Given the description of an element on the screen output the (x, y) to click on. 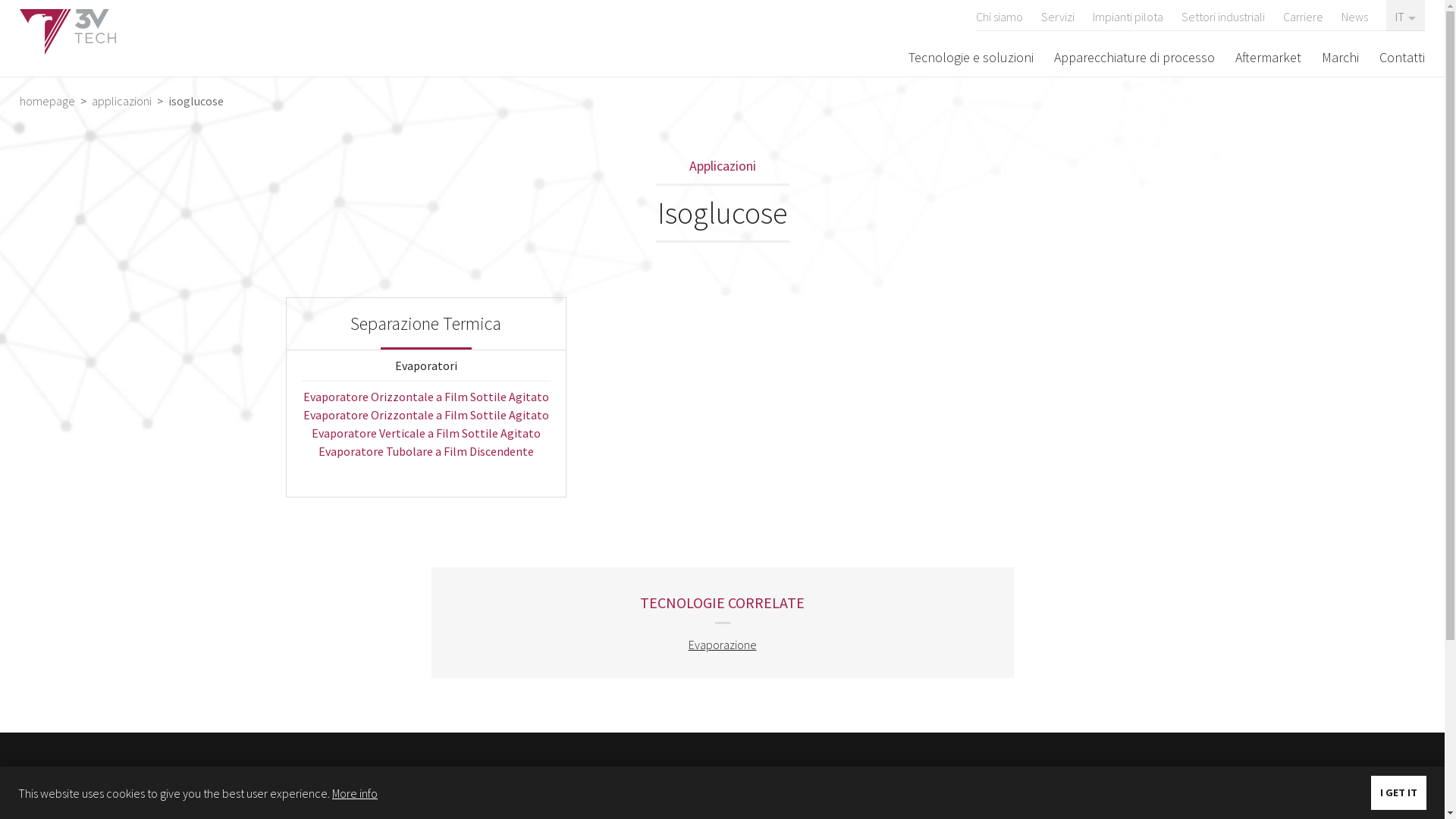
Aftermarket Element type: text (1268, 56)
Evaporatore Verticale a Film Sottile Agitato Element type: text (425, 432)
Marchi Element type: text (1339, 56)
Applicazioni Element type: text (721, 166)
Chi siamo Element type: text (826, 777)
Settori industriali Element type: text (1222, 15)
isoglucose Element type: text (194, 100)
Apparecchiature di processo Element type: text (1134, 56)
Evaporatore Orizzontale a Film Sottile Agitato Element type: text (426, 414)
News Element type: text (1354, 15)
Evaporazione Element type: text (722, 644)
Tecnologie e soluzioni Element type: text (970, 56)
Contatti Element type: text (1401, 56)
3V Tech Element type: hover (67, 31)
homepage Element type: text (48, 100)
Evaporatore Tubolare a Film Discendente Element type: text (425, 451)
Impianti pilota Element type: text (1127, 15)
LinkedIn Element type: hover (1113, 782)
More info Element type: text (354, 792)
LinkedIn Element type: hover (1144, 783)
Evaporatore Orizzontale a Film Sottile Agitato Element type: text (426, 396)
Chi siamo Element type: text (998, 15)
Apparecchiature di processo Element type: text (652, 795)
Tecnologie e soluzioni Element type: text (637, 777)
3V Tech Element type: hover (314, 787)
applicazioni Element type: text (121, 100)
Aftermarket Element type: text (832, 795)
Carriere Element type: text (1303, 15)
Servizi Element type: text (1057, 15)
I GET IT Element type: text (1398, 792)
